Given the description of an element on the screen output the (x, y) to click on. 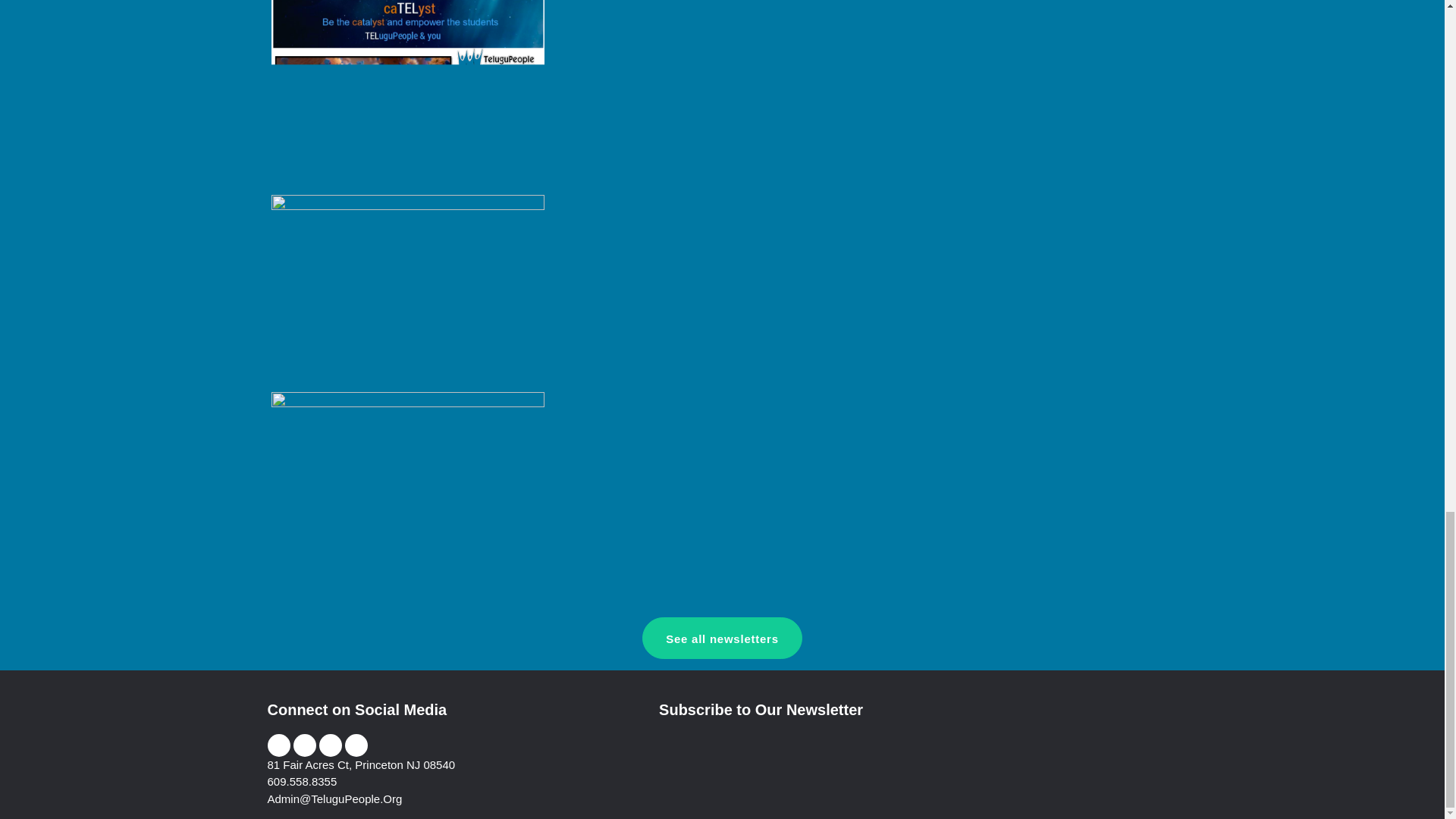
Winter '20 (407, 86)
Winter '19 (407, 287)
Winter '20 (407, 93)
Winter '19 (407, 289)
